Given the description of an element on the screen output the (x, y) to click on. 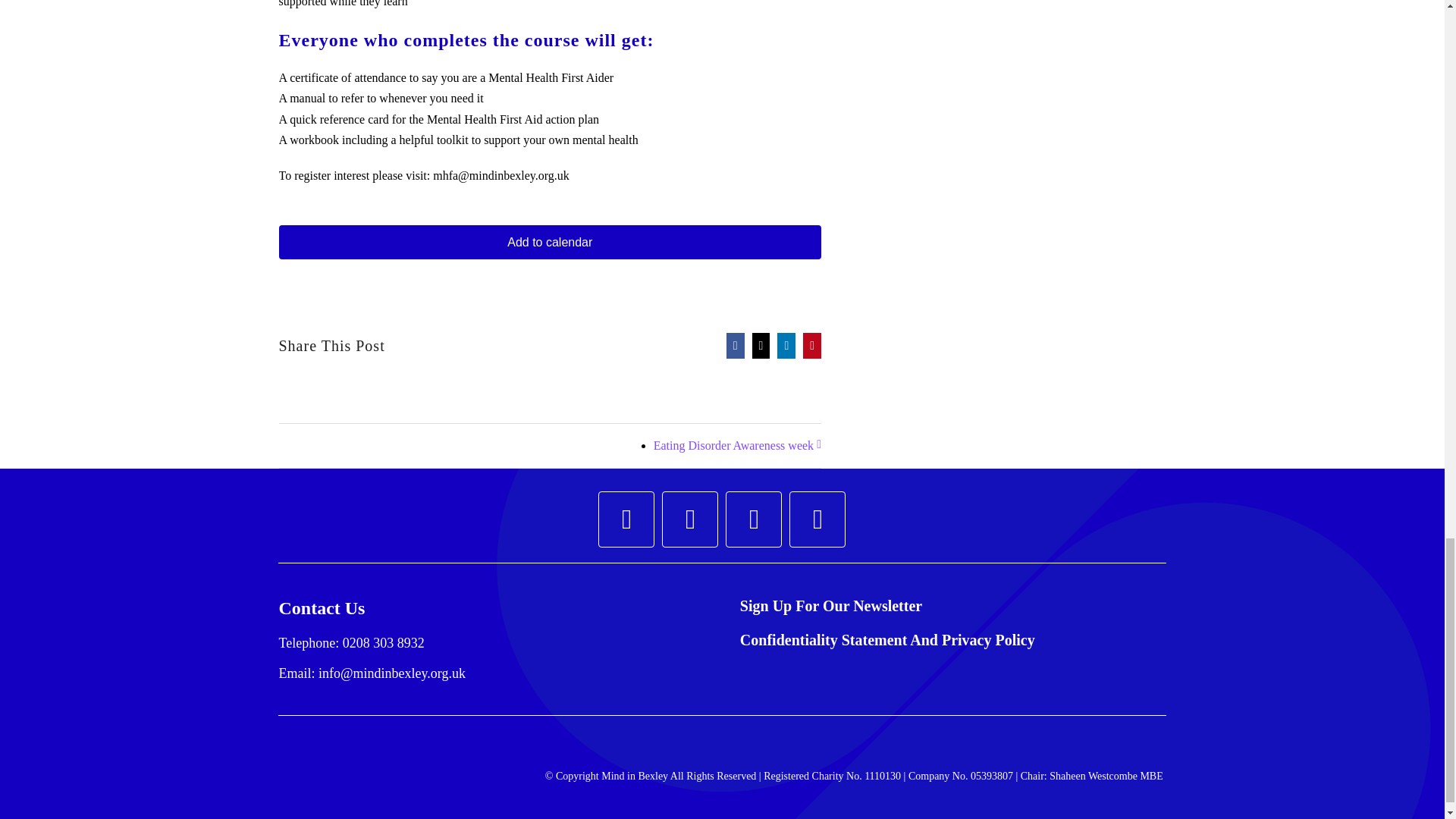
Vimeo (817, 519)
Facebook (625, 519)
X (753, 519)
Instagram (689, 519)
